Given the description of an element on the screen output the (x, y) to click on. 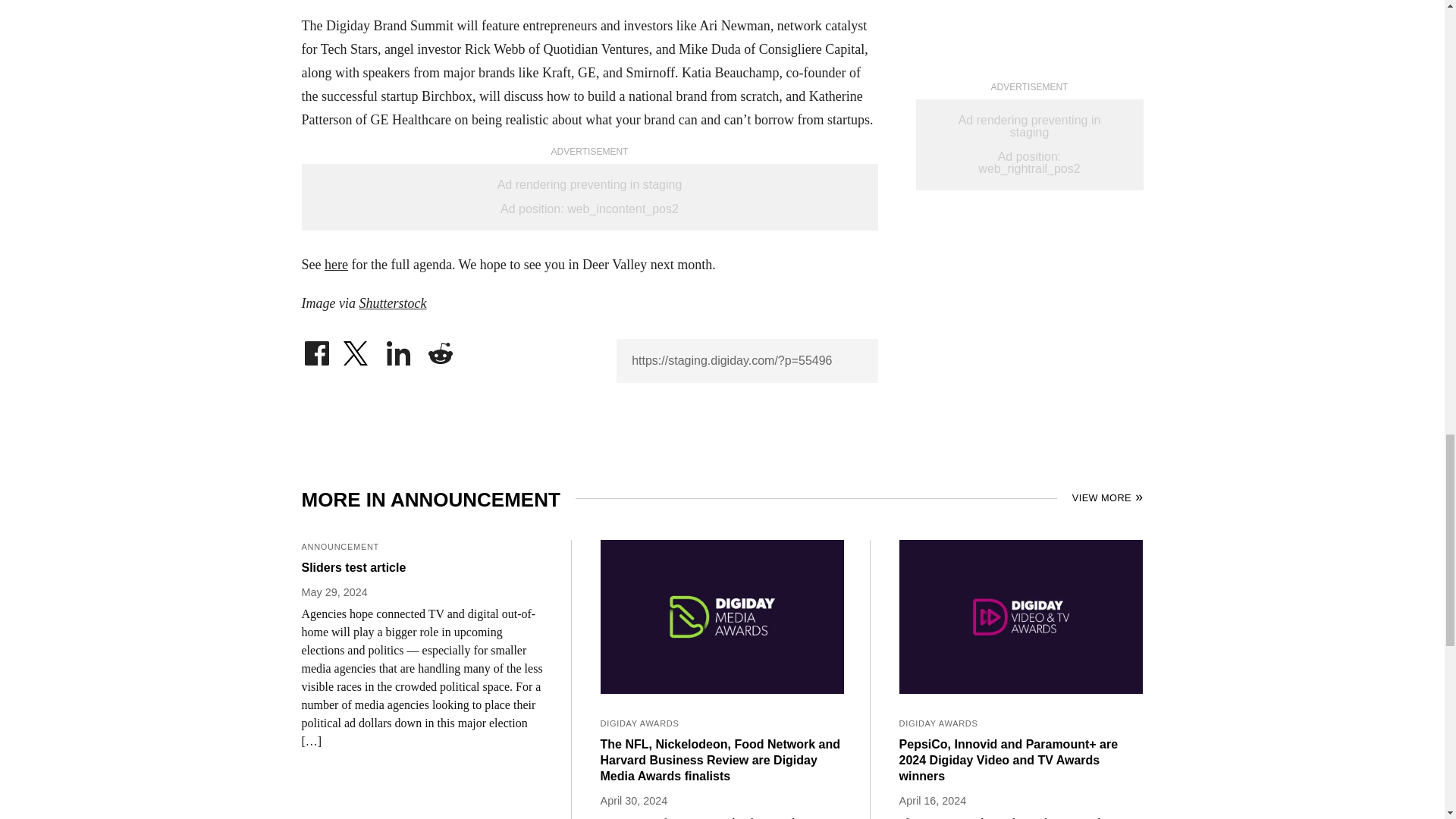
Share on Twitter (357, 349)
Share on LinkedIn (398, 349)
Share on Reddit (440, 349)
Sliders test article (423, 567)
Share on Facebook (316, 349)
